Given the description of an element on the screen output the (x, y) to click on. 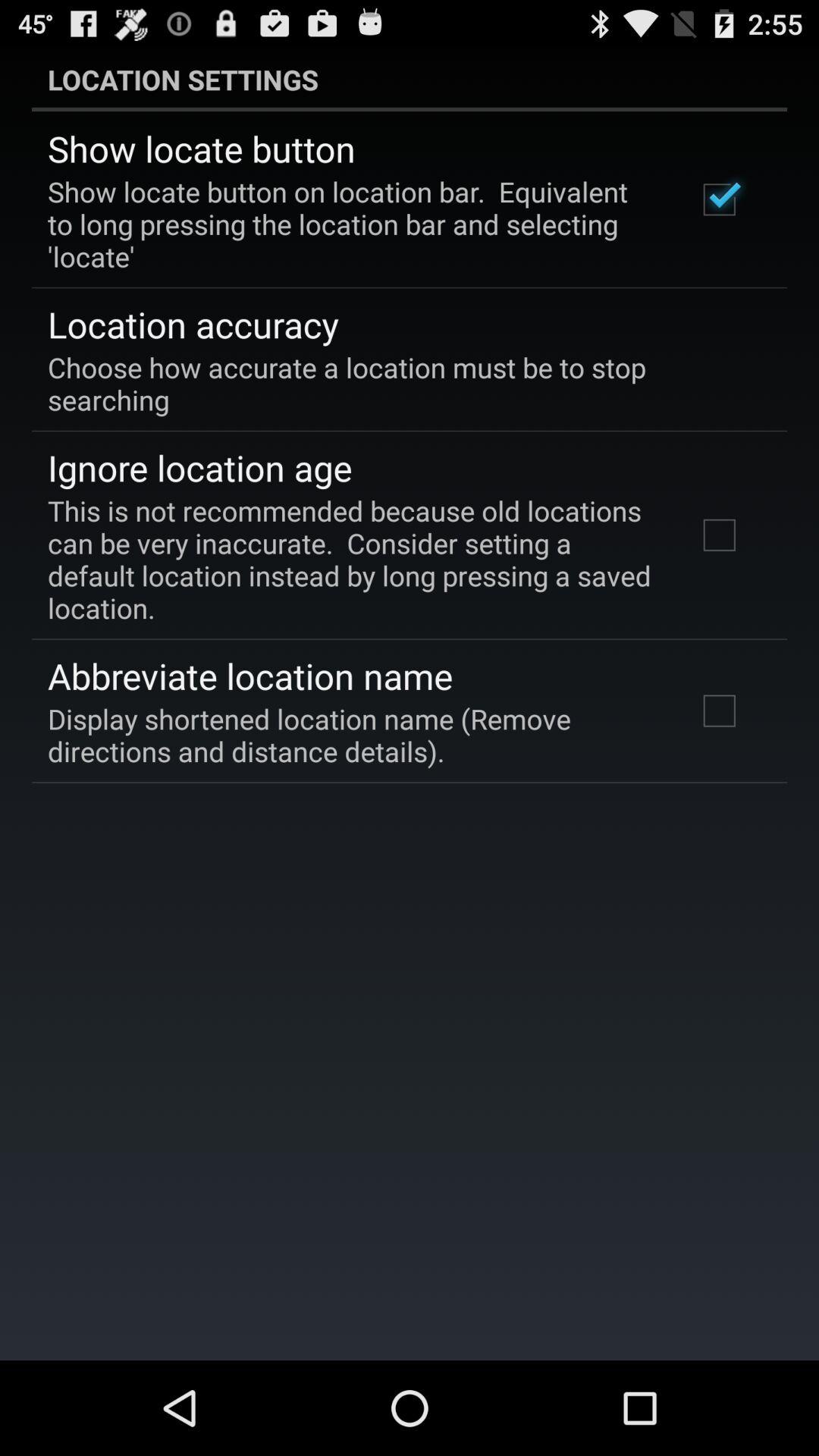
turn off this is not item (351, 558)
